Given the description of an element on the screen output the (x, y) to click on. 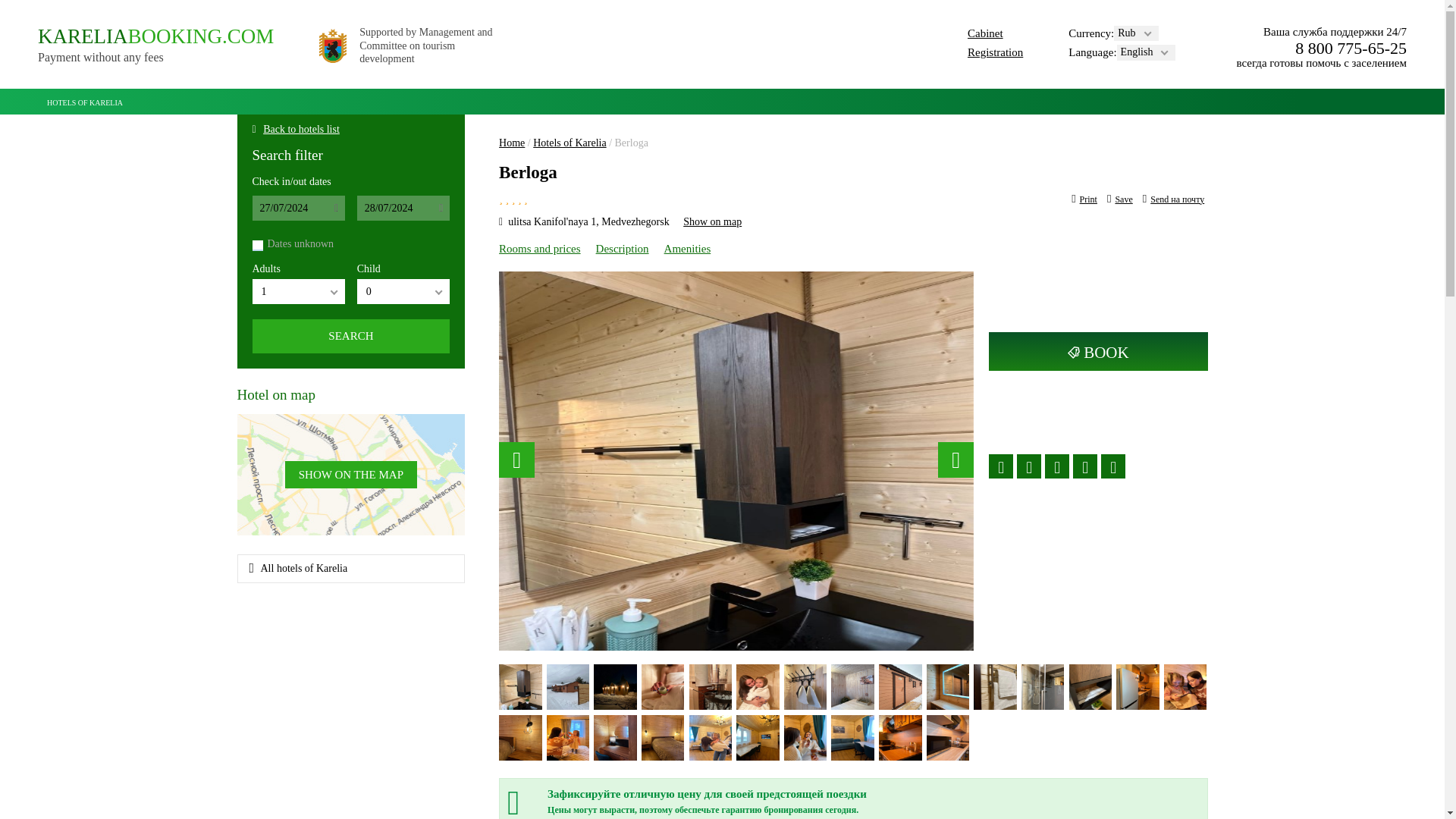
Show on map (711, 221)
Amenities (155, 44)
Search (687, 248)
Save (350, 335)
HOTELS OF KARELIA (1119, 199)
Cabinet (84, 100)
Rooms and prices (985, 33)
Hotels of Karelia (539, 248)
All hotels of Karelia (568, 142)
Search (351, 568)
Back to hotels list (350, 335)
Description (301, 128)
Home (622, 248)
Registration (511, 142)
